Given the description of an element on the screen output the (x, y) to click on. 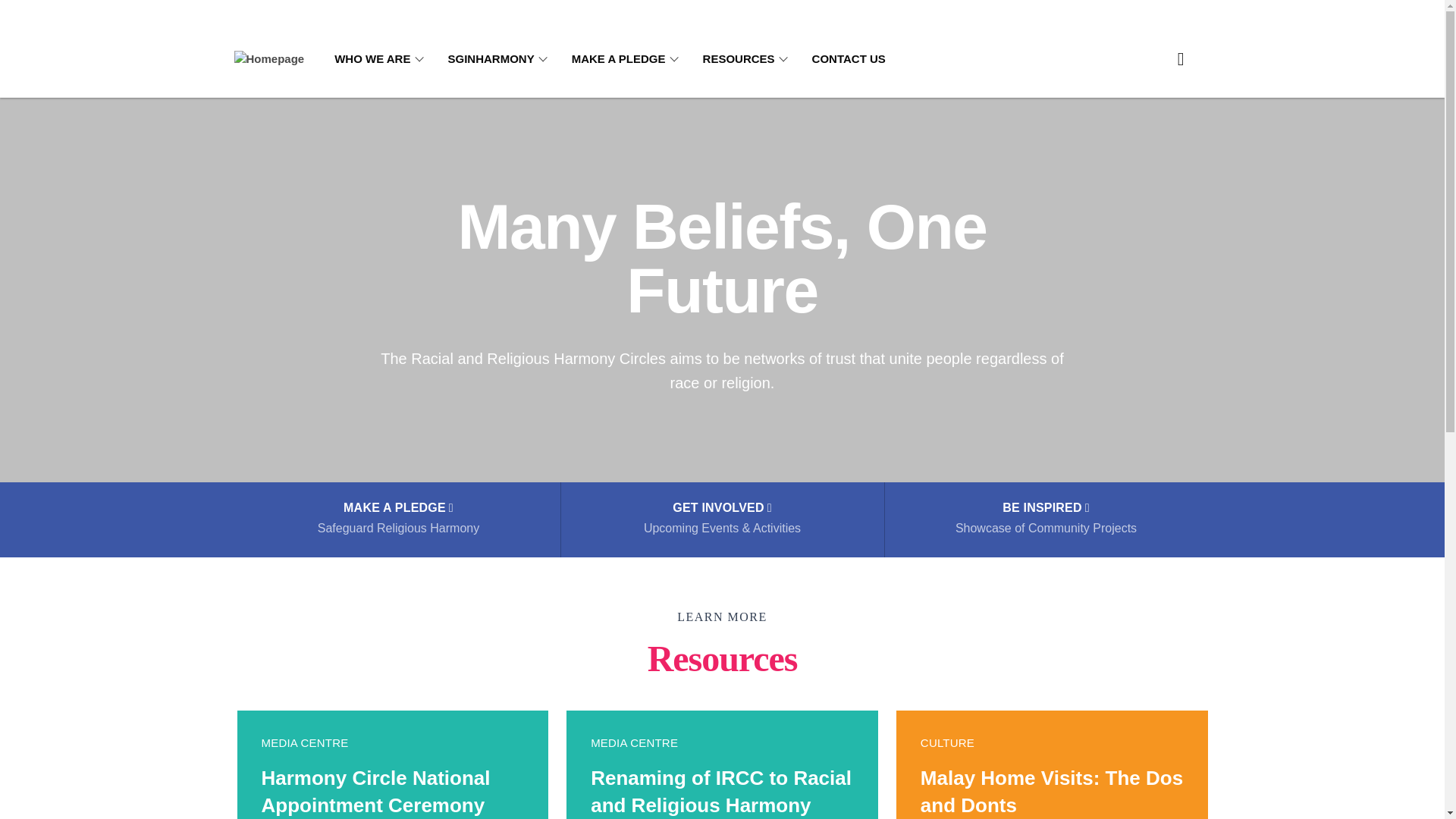
WHO WE ARE (1052, 764)
RESOURCES (397, 519)
SGINHARMONY (381, 59)
CONTACT US (748, 59)
MAKE A PLEDGE (1045, 519)
